Given the description of an element on the screen output the (x, y) to click on. 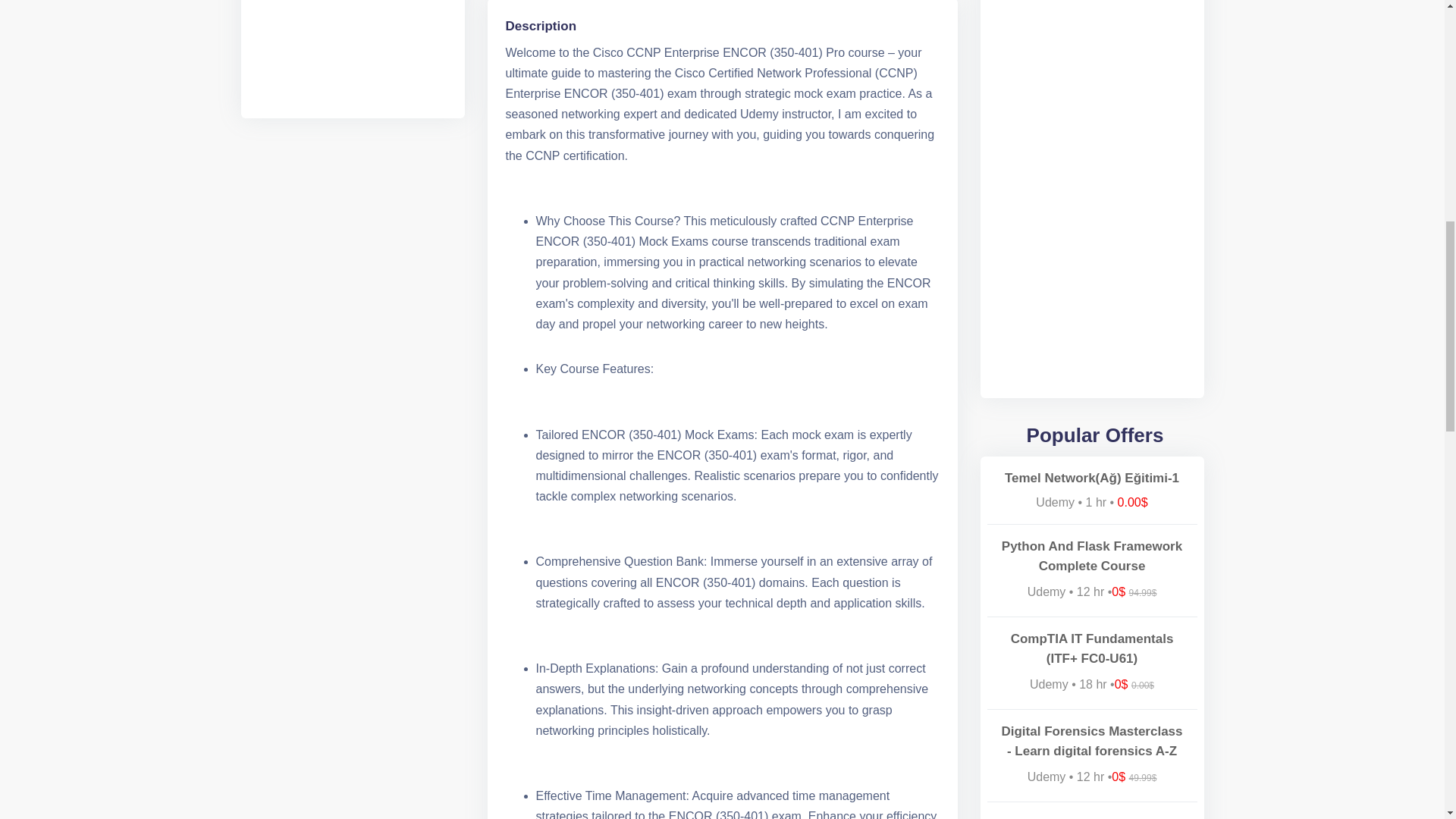
Advertisement (352, 51)
